Given the description of an element on the screen output the (x, y) to click on. 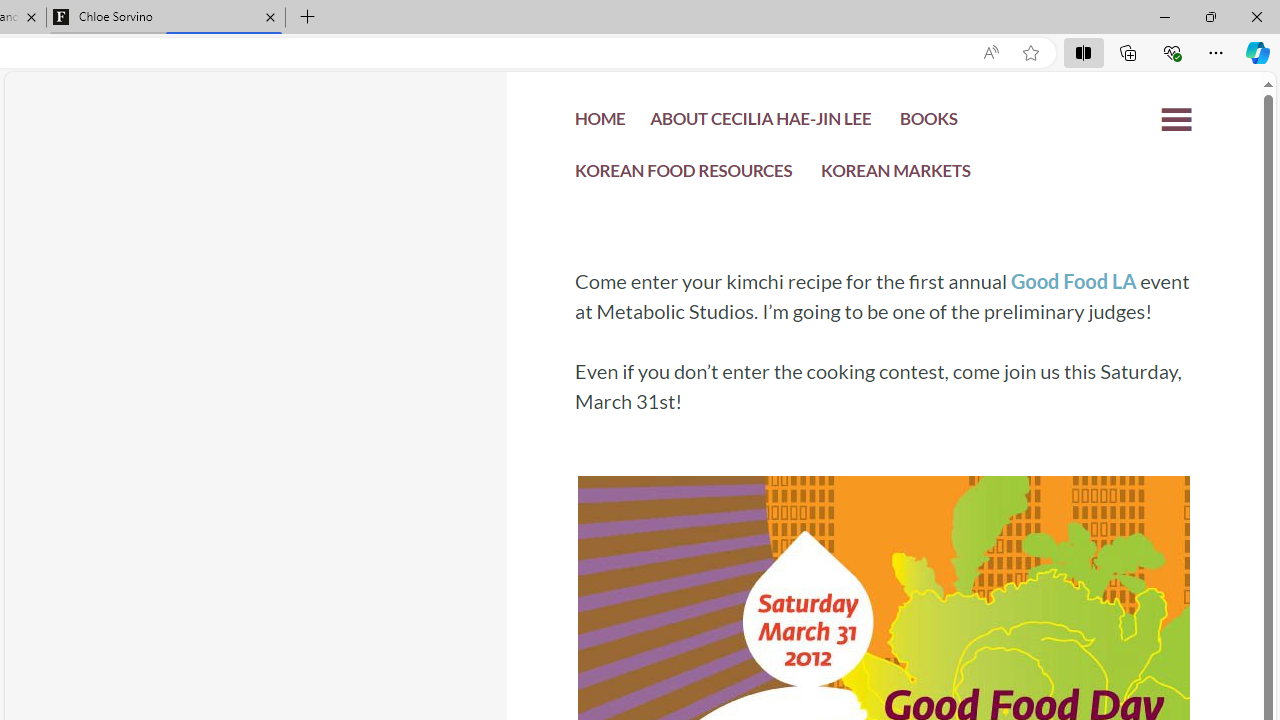
KOREAN MARKETS (895, 175)
KOREAN MARKETS (895, 173)
HOME (599, 124)
BOOKS (928, 124)
KOREAN FOOD RESOURCES (683, 173)
BOOKS (928, 121)
HOME (599, 121)
Good Food LA (1072, 281)
